Given the description of an element on the screen output the (x, y) to click on. 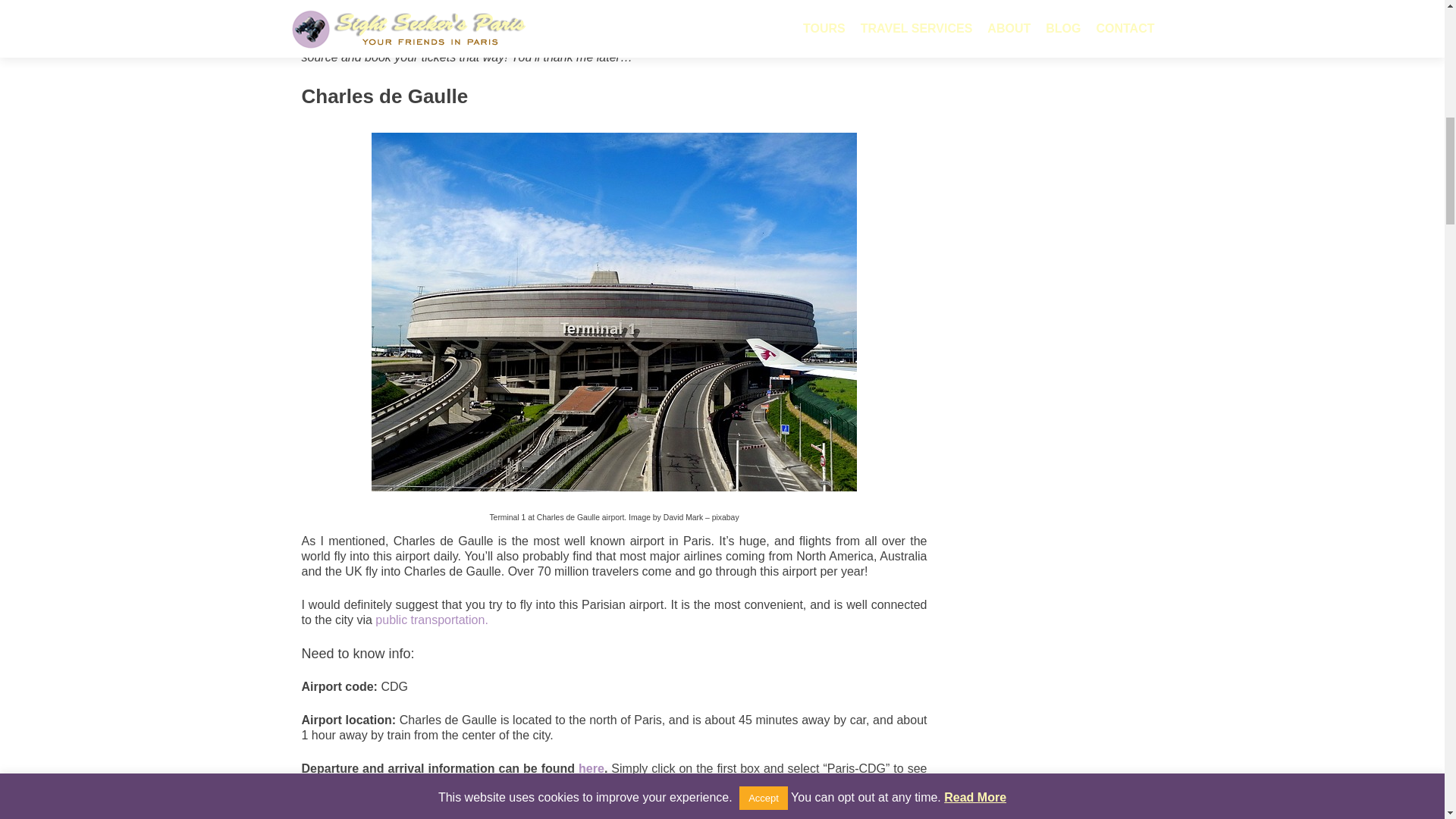
public transportation.  (433, 619)
Airport map  (337, 814)
here (591, 768)
